Given the description of an element on the screen output the (x, y) to click on. 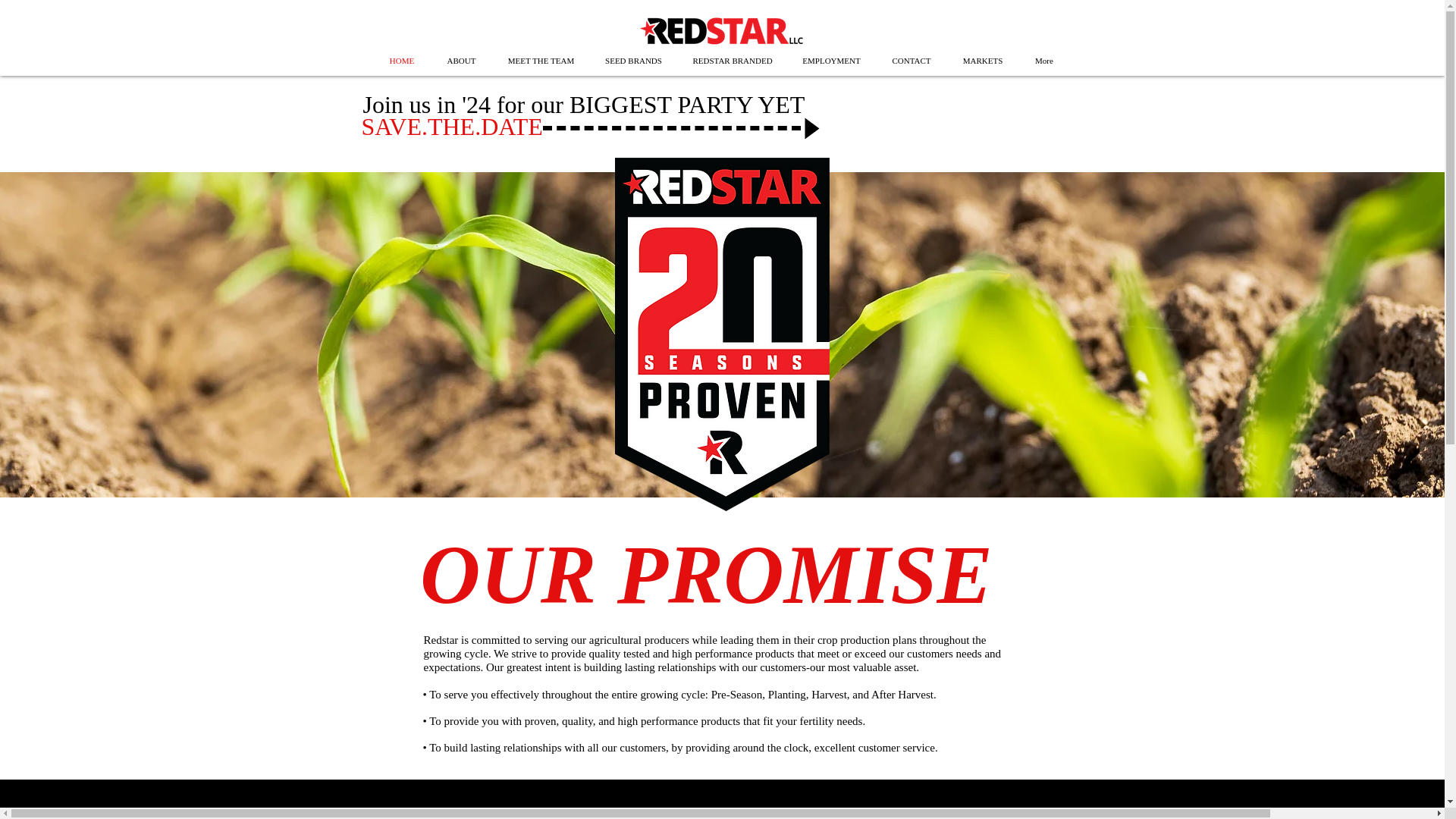
CONTACT (911, 60)
SEED BRANDS (633, 60)
EMPLOYMENT (831, 60)
ABOUT (461, 60)
REDSTAR BRANDED (732, 60)
MEET THE TEAM (541, 60)
MARKETS (982, 60)
HOME (400, 60)
